Given the description of an element on the screen output the (x, y) to click on. 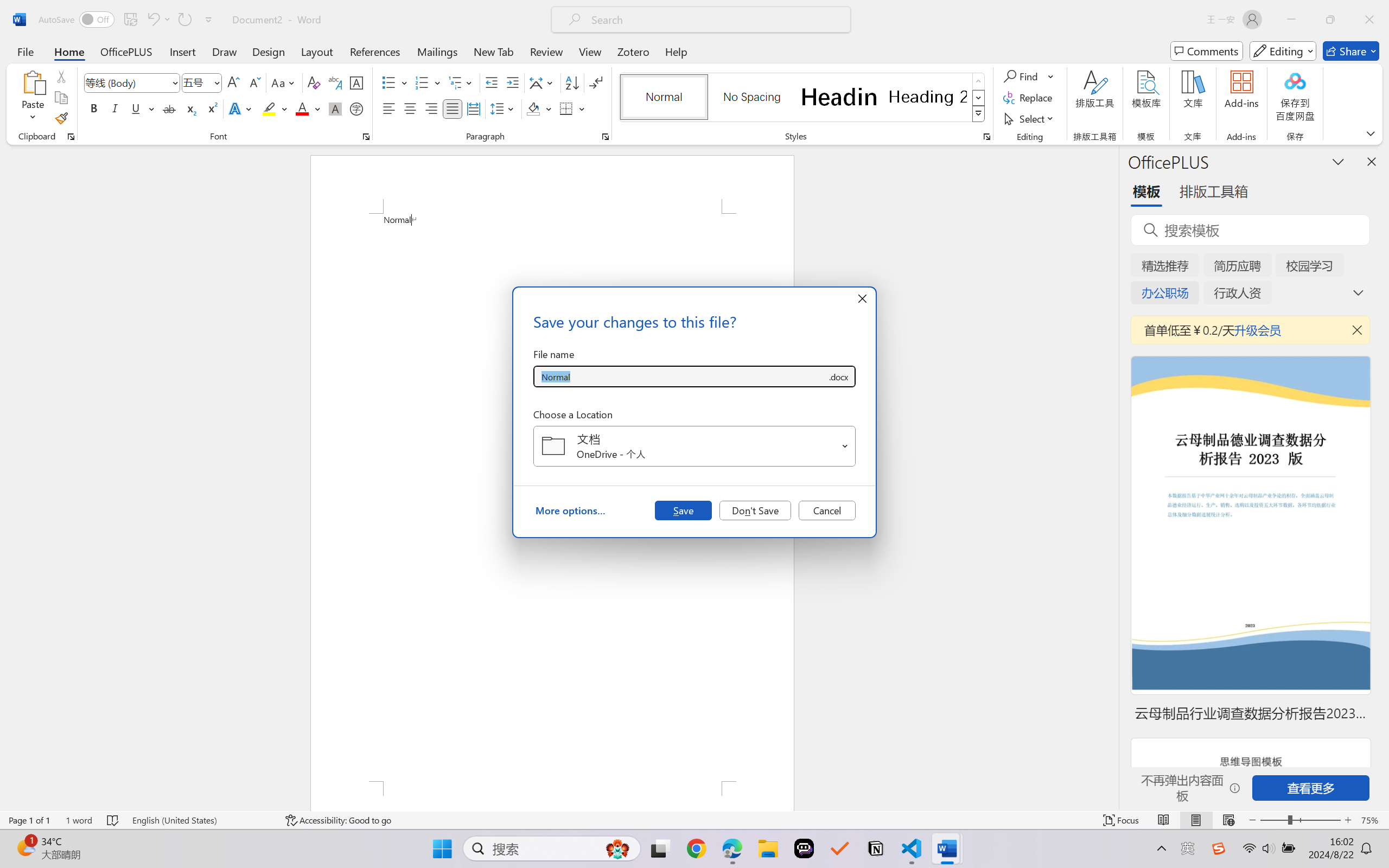
Multilevel List (461, 82)
Class: NetUIImage (978, 114)
Paste (33, 97)
Spelling and Grammar Check No Errors (113, 819)
Superscript (210, 108)
Borders (571, 108)
Font Color (308, 108)
Center (409, 108)
Styles... (986, 136)
